Given the description of an element on the screen output the (x, y) to click on. 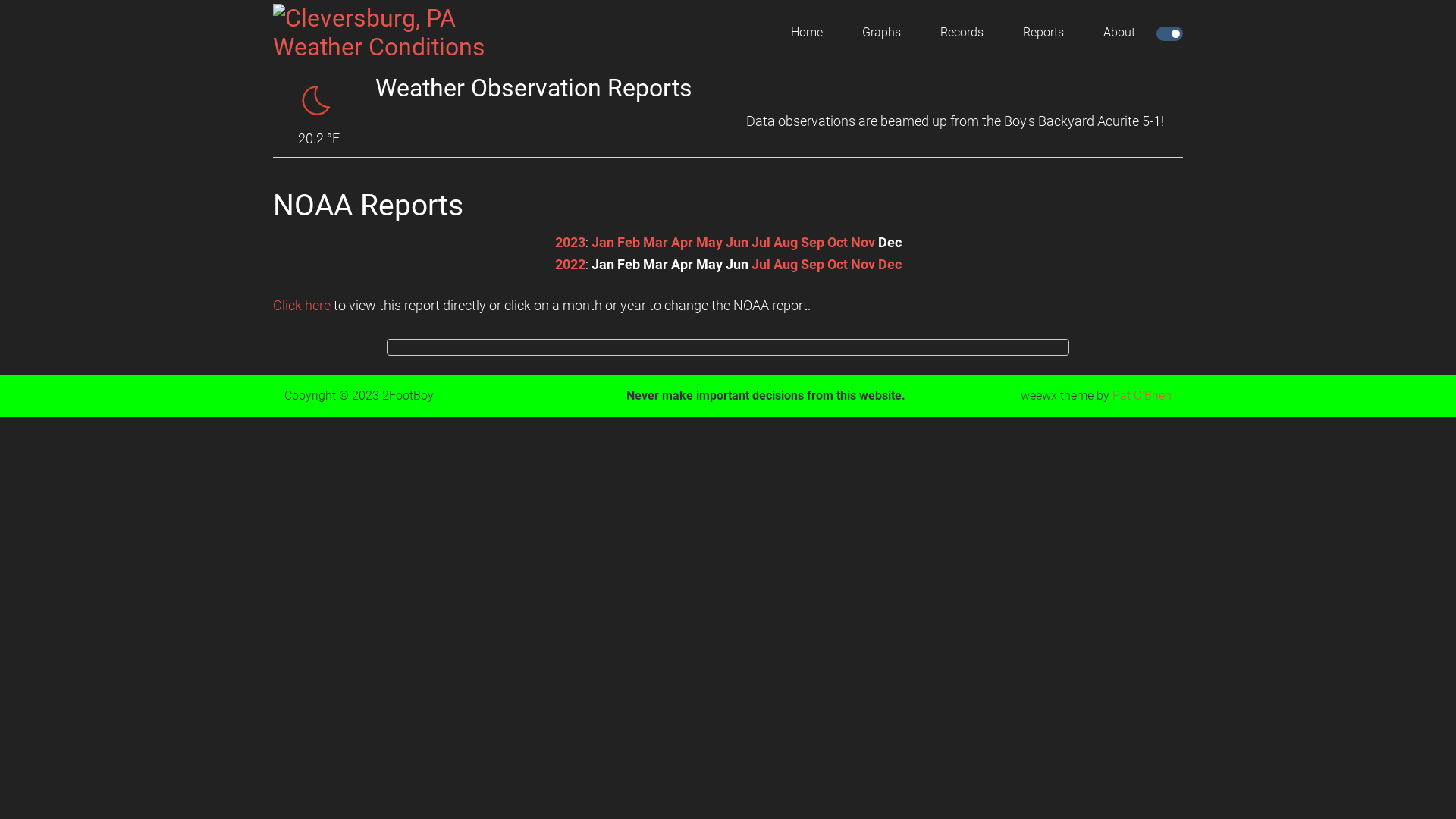
Home Element type: text (806, 32)
Cleversburg, PA Weather Conditions Element type: hover (398, 32)
Mar Element type: text (655, 242)
Click here Element type: text (301, 305)
About Element type: text (1119, 32)
Nov Element type: text (862, 264)
Sep Element type: text (812, 242)
May Element type: text (709, 242)
Records Element type: text (961, 32)
Dec Element type: text (889, 264)
Sep Element type: text (812, 264)
Graphs Element type: text (881, 32)
Jul Element type: text (759, 242)
Aug Element type: text (785, 242)
Jul Element type: text (759, 264)
Jun Element type: text (735, 242)
2023 Element type: text (570, 242)
Apr Element type: text (681, 242)
Pat O'Brien Element type: text (1141, 395)
Oct Element type: text (836, 264)
Oct Element type: text (836, 242)
Nov Element type: text (862, 242)
Feb Element type: text (628, 242)
2022 Element type: text (570, 264)
Jan Element type: text (602, 242)
Reports Element type: text (1043, 32)
Aug Element type: text (785, 264)
